Given the description of an element on the screen output the (x, y) to click on. 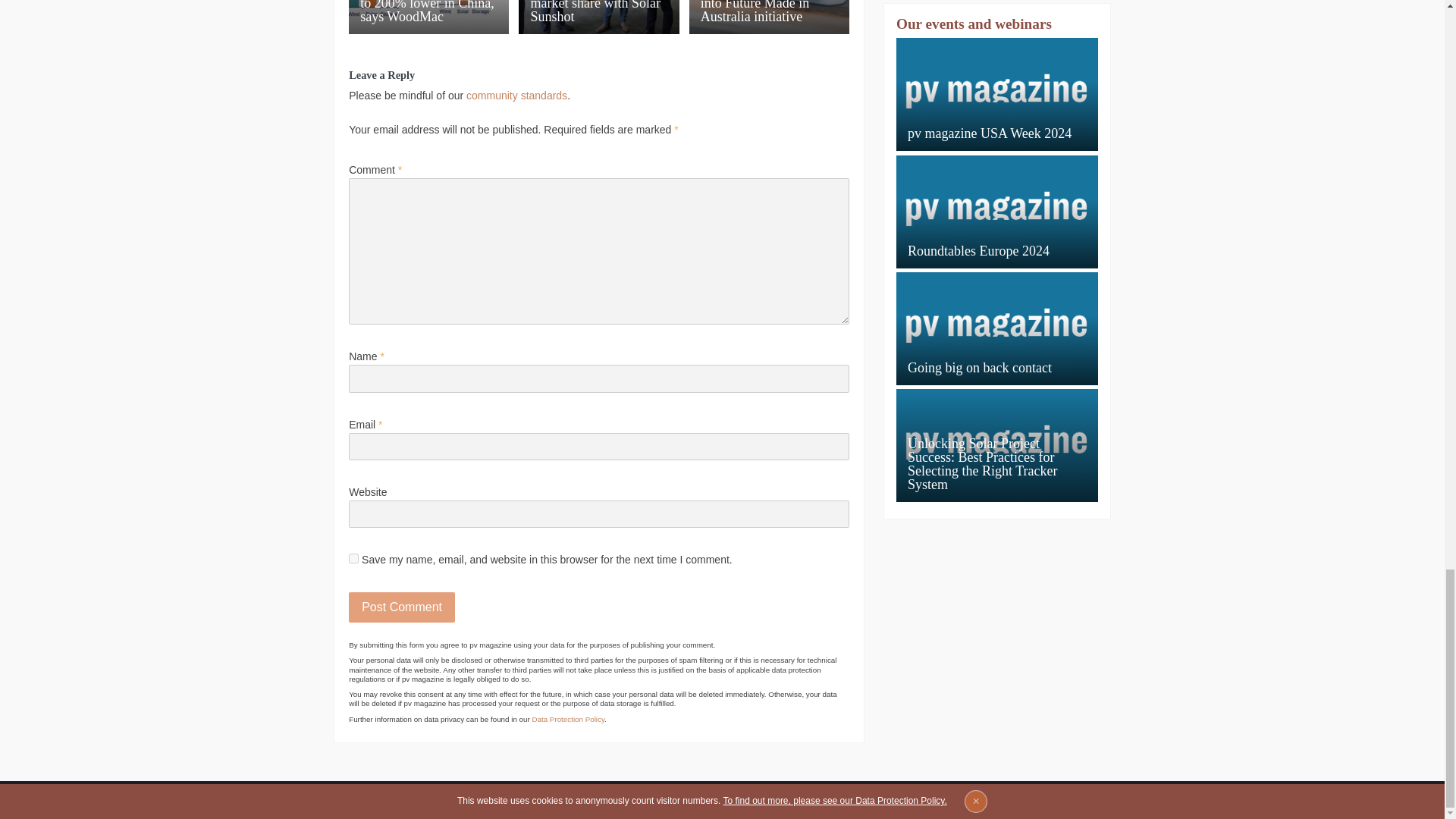
Post Comment (401, 607)
yes (353, 558)
